Given the description of an element on the screen output the (x, y) to click on. 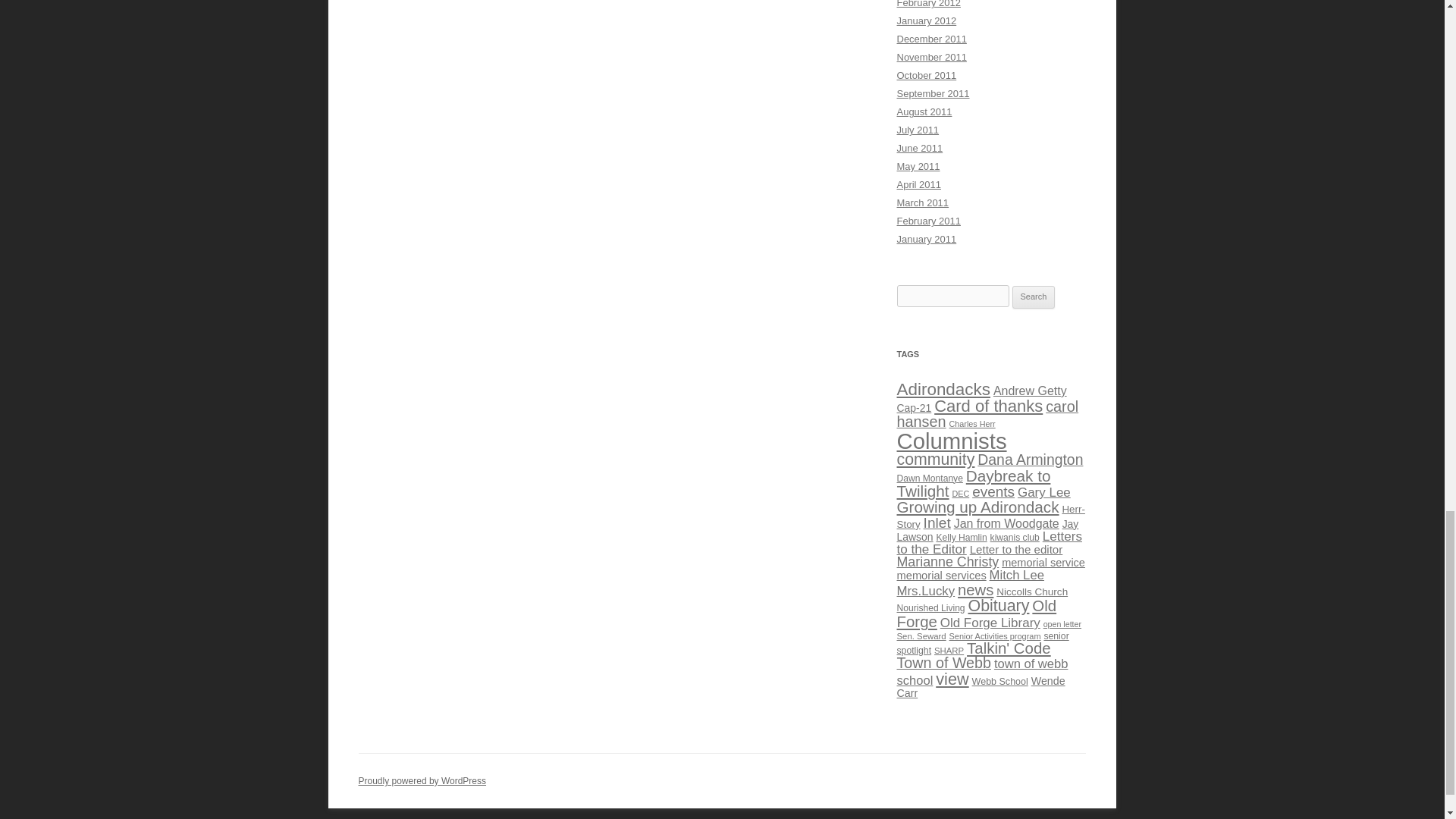
Search (1033, 296)
106 topics (1029, 390)
301 topics (943, 389)
